Given the description of an element on the screen output the (x, y) to click on. 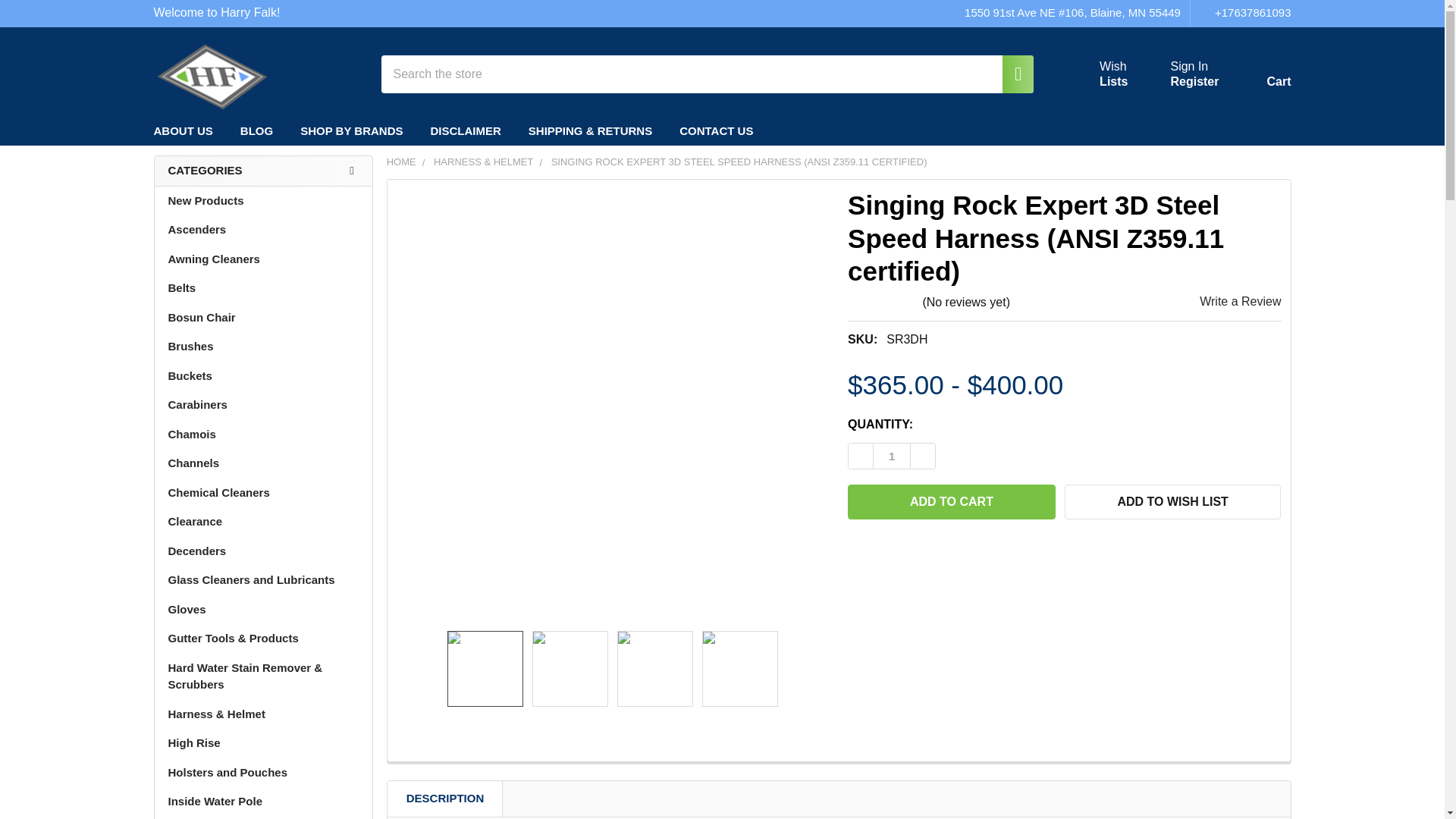
Cart (1260, 77)
Cart (1260, 77)
1 (891, 455)
Search (1010, 74)
Wish Lists (1095, 73)
Add to Cart (951, 501)
Harry Falk (210, 74)
Register (1194, 81)
Sign In (1189, 66)
Search (1010, 74)
